Given the description of an element on the screen output the (x, y) to click on. 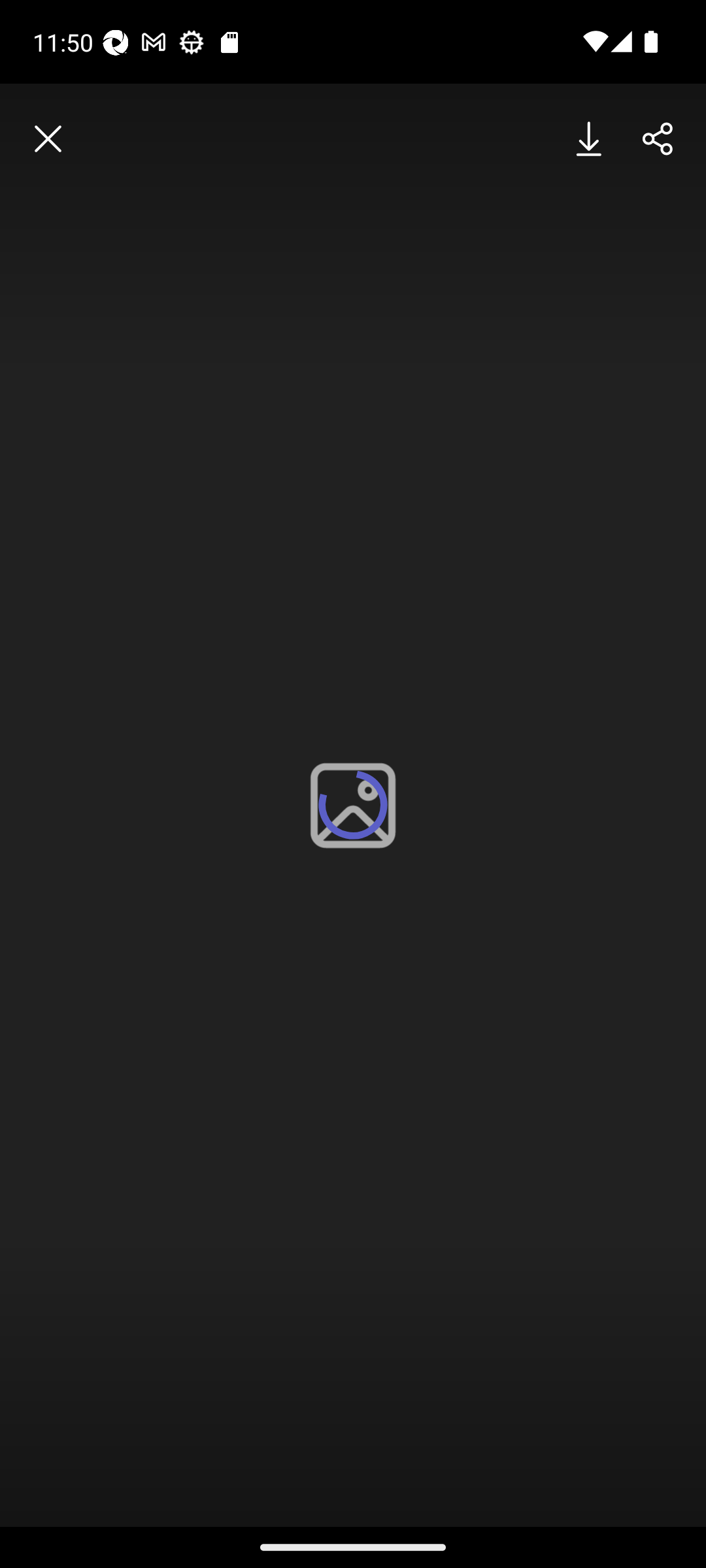
exit (47, 138)
save image (589, 138)
share image (657, 138)
